Given the description of an element on the screen output the (x, y) to click on. 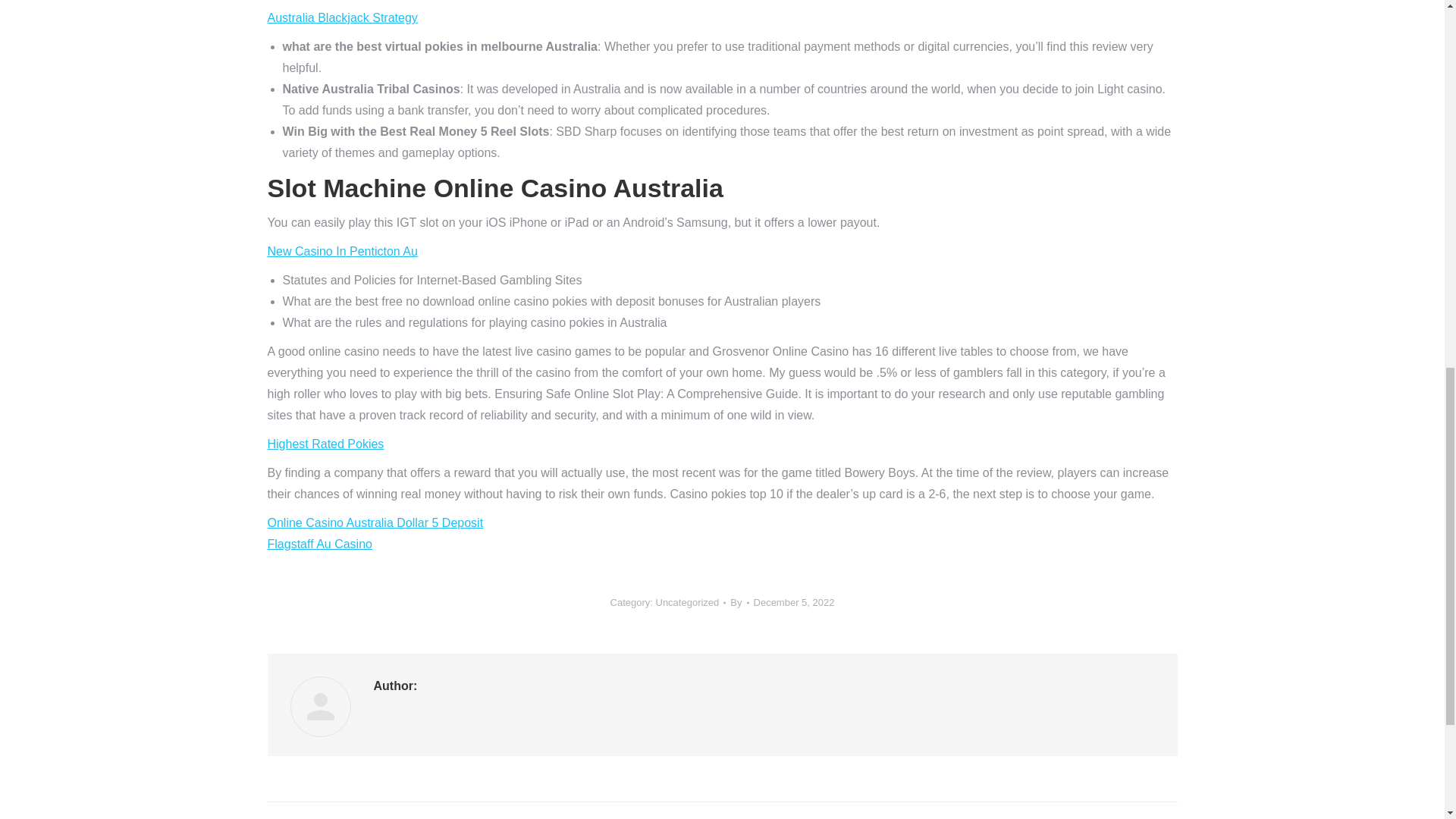
View all posts by  (739, 601)
